Given the description of an element on the screen output the (x, y) to click on. 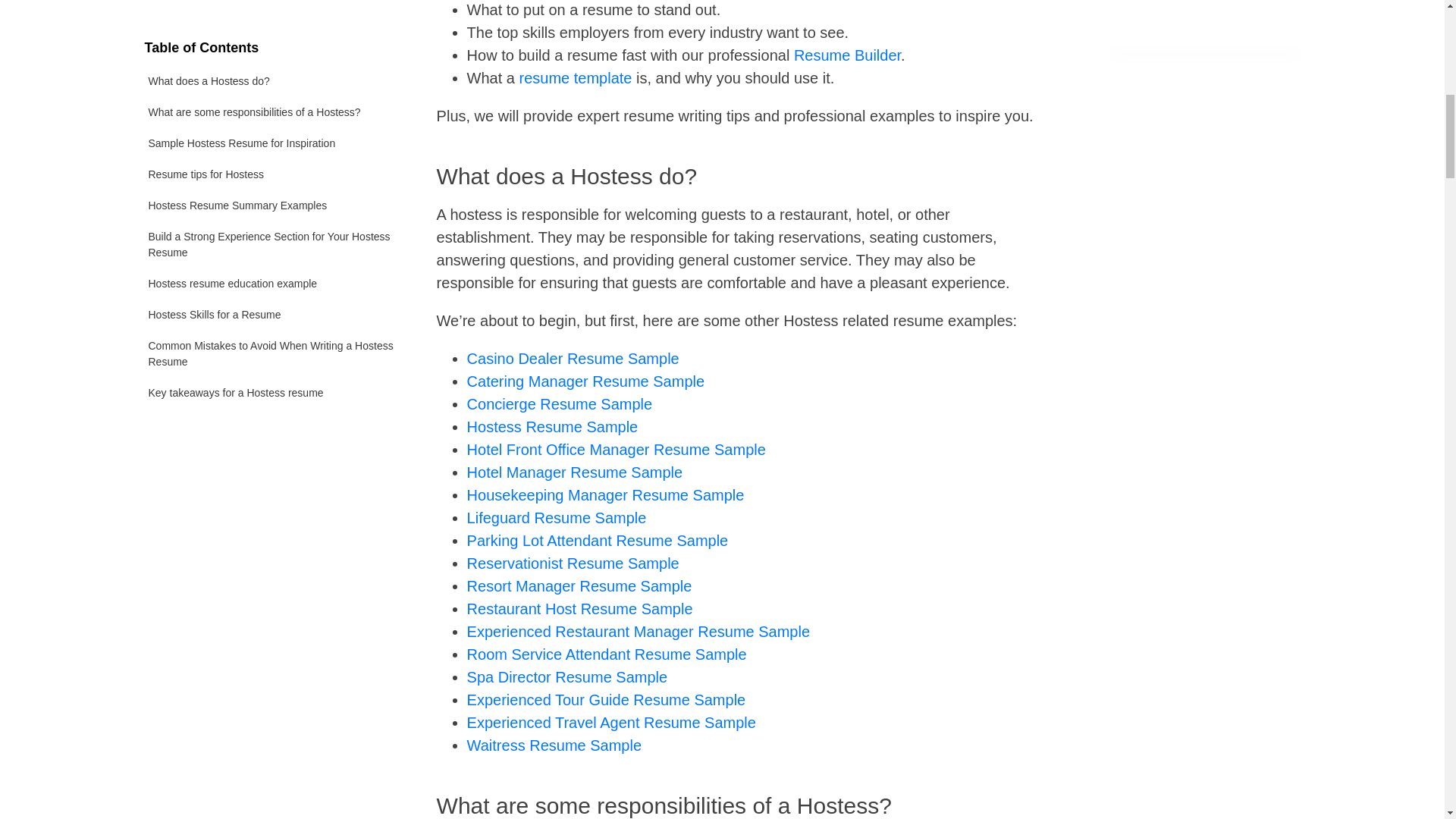
resume template (575, 77)
Lifeguard Resume Sample (556, 517)
Parking Lot Attendant Resume Sample (598, 540)
Hotel Front Office Manager Resume Sample (616, 449)
Hostess resume education example (270, 54)
Hostess Resume Sample (553, 426)
Hotel Manager Resume Sample (574, 472)
Resume Builder (847, 54)
Housekeeping Manager Resume Sample (605, 494)
Casino Dealer Resume Sample (573, 358)
